Given the description of an element on the screen output the (x, y) to click on. 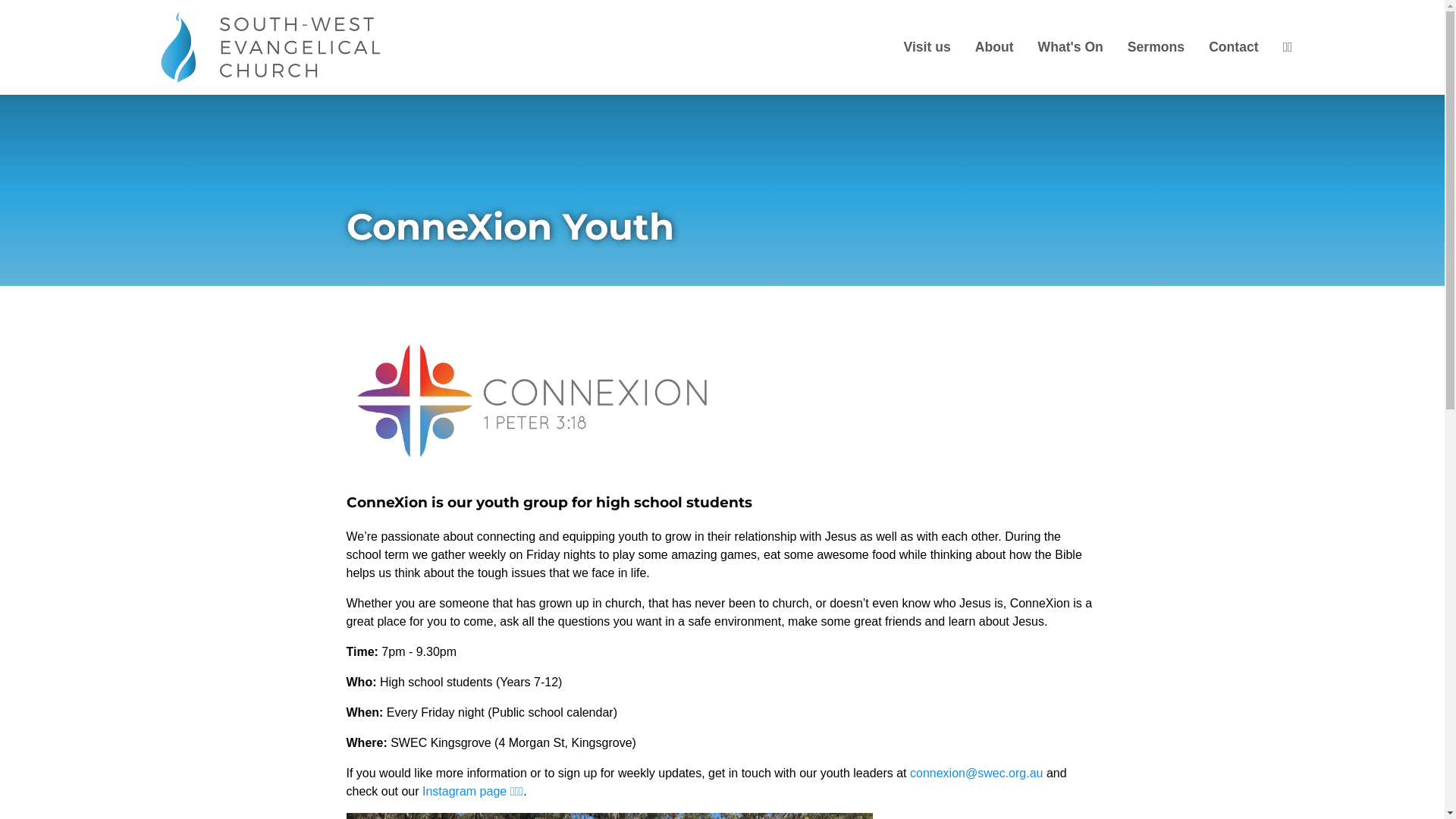
Sermons Element type: text (1155, 47)
About Element type: text (994, 47)
Visit us Element type: text (926, 47)
connexion@swec.org.au Element type: text (976, 772)
Contact Element type: text (1233, 47)
What's On Element type: text (1070, 47)
